Given the description of an element on the screen output the (x, y) to click on. 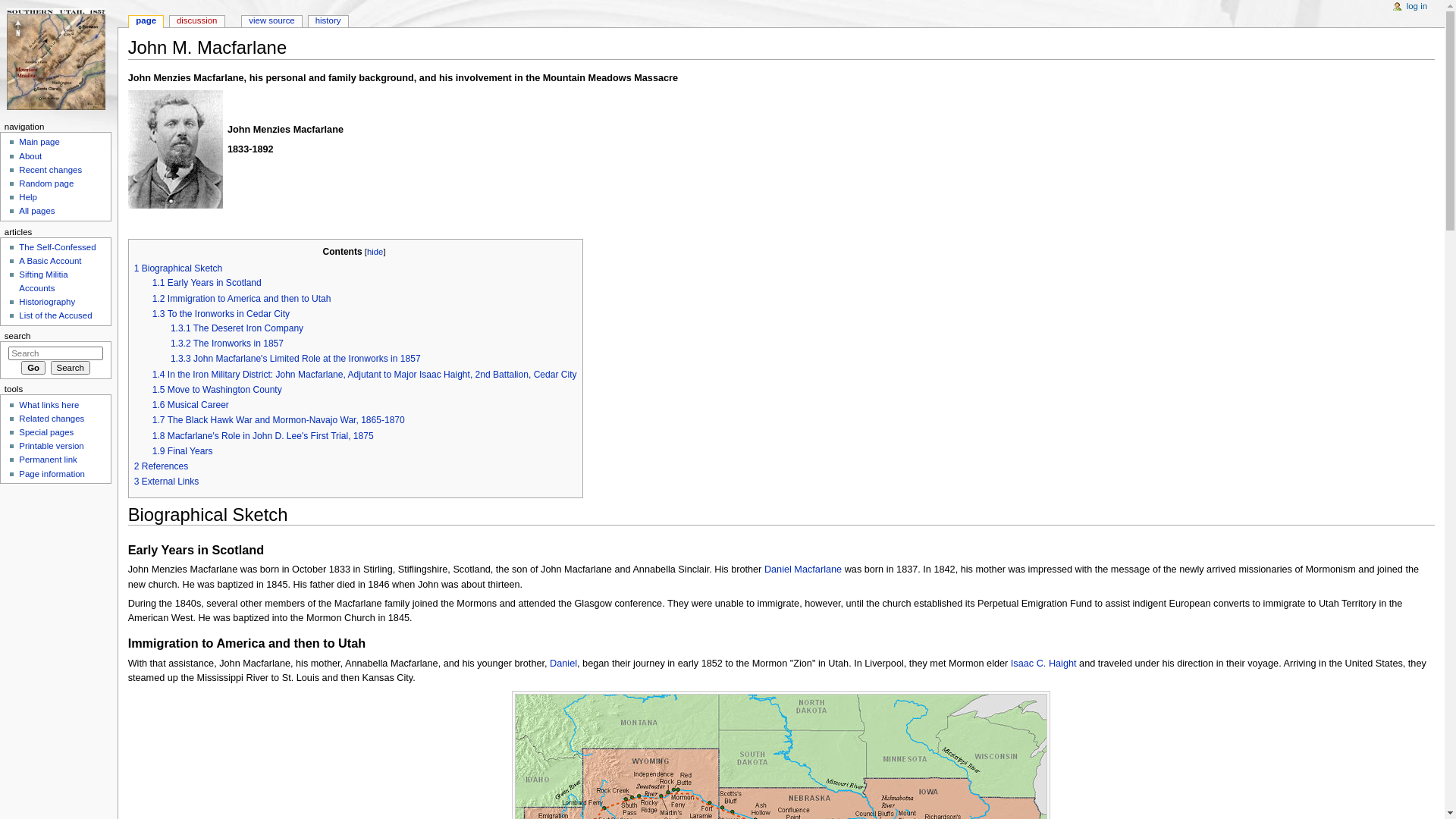
John m. macfarlane 1b.jpg Element type: hover (175, 149)
Historiography Element type: text (46, 301)
history Element type: text (328, 21)
Help Element type: text (27, 196)
2 References Element type: text (161, 466)
Isaac C. Haight Element type: text (1043, 663)
The Self-Confessed Element type: text (56, 246)
Go to a page with this exact name if it exists Element type: hover (32, 367)
Daniel Element type: text (563, 663)
view source Element type: text (271, 21)
Page information Element type: text (51, 473)
Go Element type: text (32, 367)
Visit the main page Element type: hover (58, 58)
1.6 Musical Career Element type: text (190, 404)
1 Biographical Sketch Element type: text (178, 268)
1.7 The Black Hawk War and Mormon-Navajo War, 1865-1870 Element type: text (278, 419)
1.3 To the Ironworks in Cedar City Element type: text (220, 313)
hide Element type: text (374, 251)
log in Element type: text (1416, 6)
1.3.1 The Deseret Iron Company Element type: text (236, 328)
Main page Element type: text (38, 141)
Printable version Element type: text (50, 445)
page Element type: text (145, 21)
List of the Accused Element type: text (54, 315)
3 External Links Element type: text (166, 481)
A Basic Account Element type: text (49, 260)
1.1 Early Years in Scotland Element type: text (206, 282)
Recent changes Element type: text (49, 169)
1.8 Macfarlane's Role in John D. Lee's First Trial, 1875 Element type: text (262, 435)
Special pages Element type: text (45, 431)
discussion Element type: text (196, 21)
Permanent link Element type: text (47, 459)
Search the pages for this text Element type: hover (70, 367)
1.9 Final Years Element type: text (182, 450)
About Element type: text (29, 155)
Search The 1857 Iron County Militia Project [alt-shift-f] Element type: hover (55, 353)
1.5 Move to Washington County Element type: text (217, 389)
Random page Element type: text (45, 183)
Related changes Element type: text (51, 418)
1.3.2 The Ironworks in 1857 Element type: text (226, 343)
Sifting Militia Accounts Element type: text (42, 280)
Daniel Macfarlane Element type: text (802, 569)
1.2 Immigration to America and then to Utah Element type: text (241, 298)
All pages Element type: text (36, 210)
What links here Element type: text (48, 404)
Search Element type: text (70, 367)
